Given the description of an element on the screen output the (x, y) to click on. 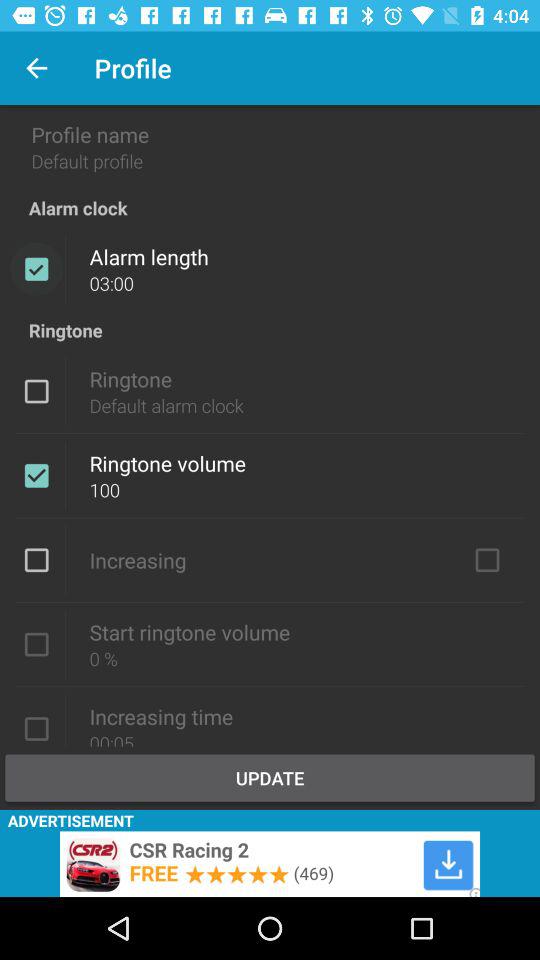
remove alarm duration (36, 269)
